Given the description of an element on the screen output the (x, y) to click on. 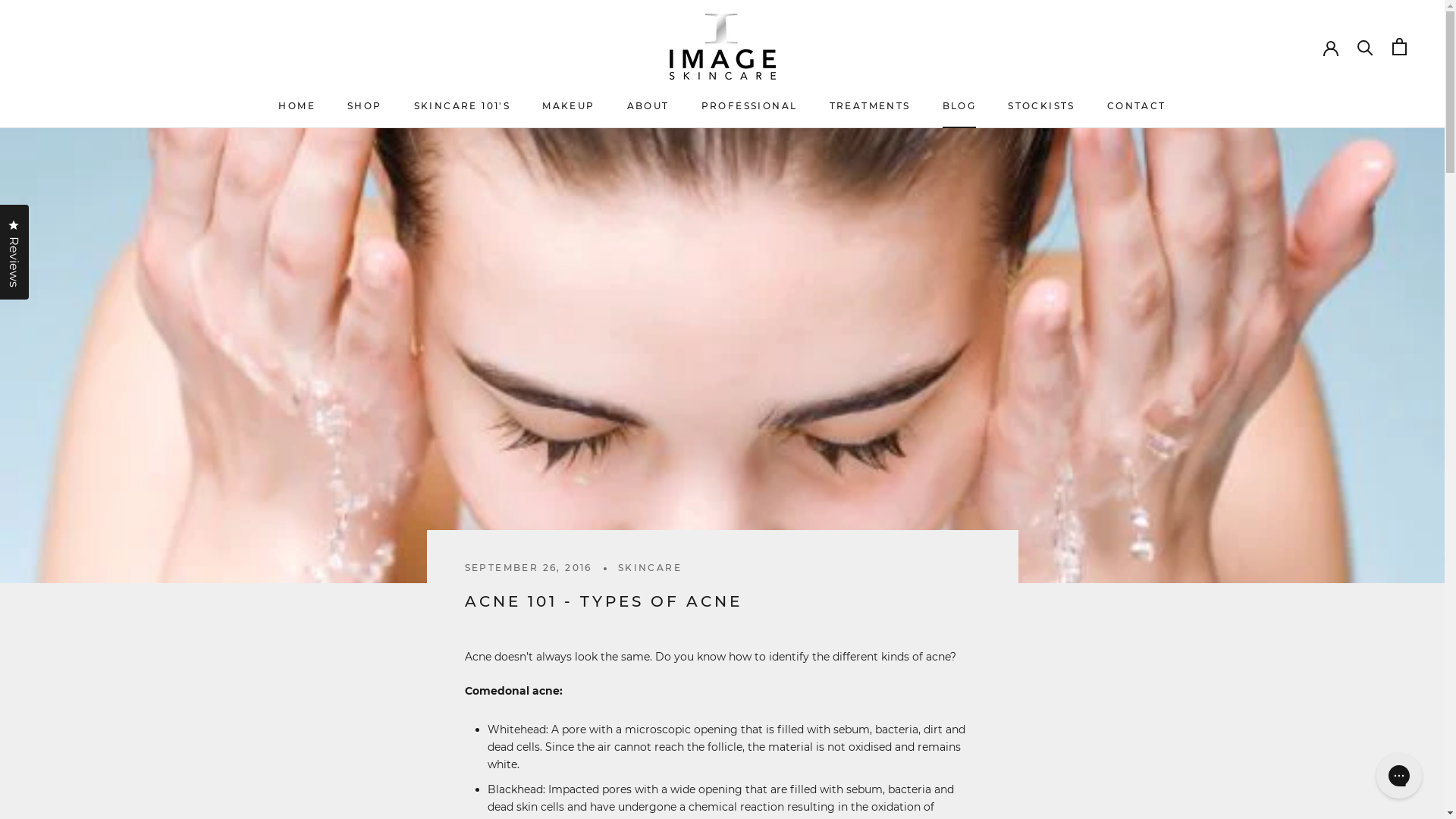
Submit Element type: text (22, 7)
CONTACT
CONTACT Element type: text (1136, 105)
Gorgias live chat messenger Element type: hover (1398, 775)
ABOUT Element type: text (648, 105)
BLOG
BLOG Element type: text (958, 105)
STOCKISTS
STOCKISTS Element type: text (1041, 105)
MAKEUP
MAKEUP Element type: text (568, 105)
HOME
HOME Element type: text (296, 105)
SKINCARE 101'S Element type: text (462, 105)
PROFESSIONAL Element type: text (749, 105)
TREATMENTS Element type: text (869, 105)
SHOP
SHOP Element type: text (364, 105)
